Given the description of an element on the screen output the (x, y) to click on. 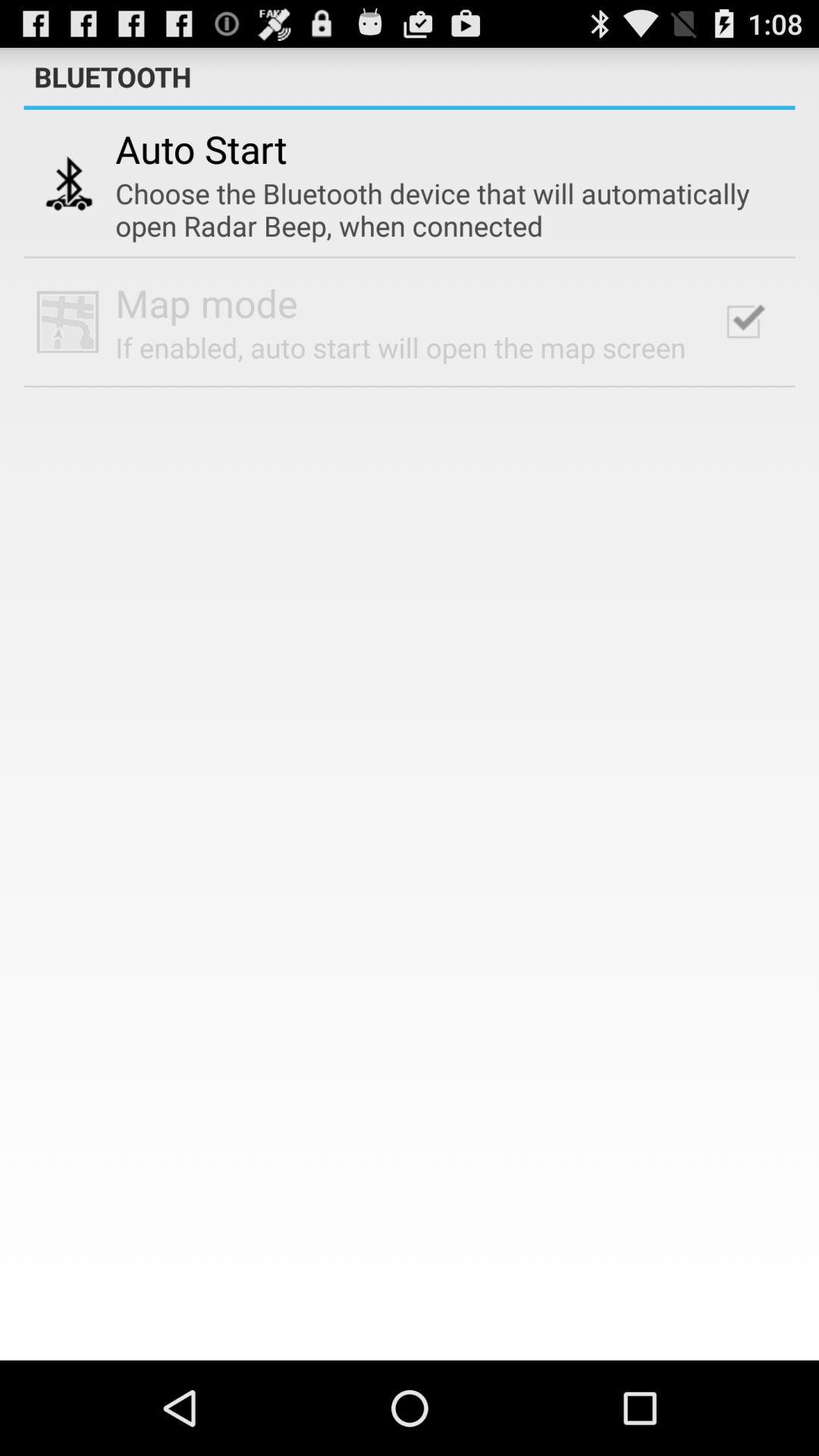
click the choose the bluetooth icon (439, 209)
